Given the description of an element on the screen output the (x, y) to click on. 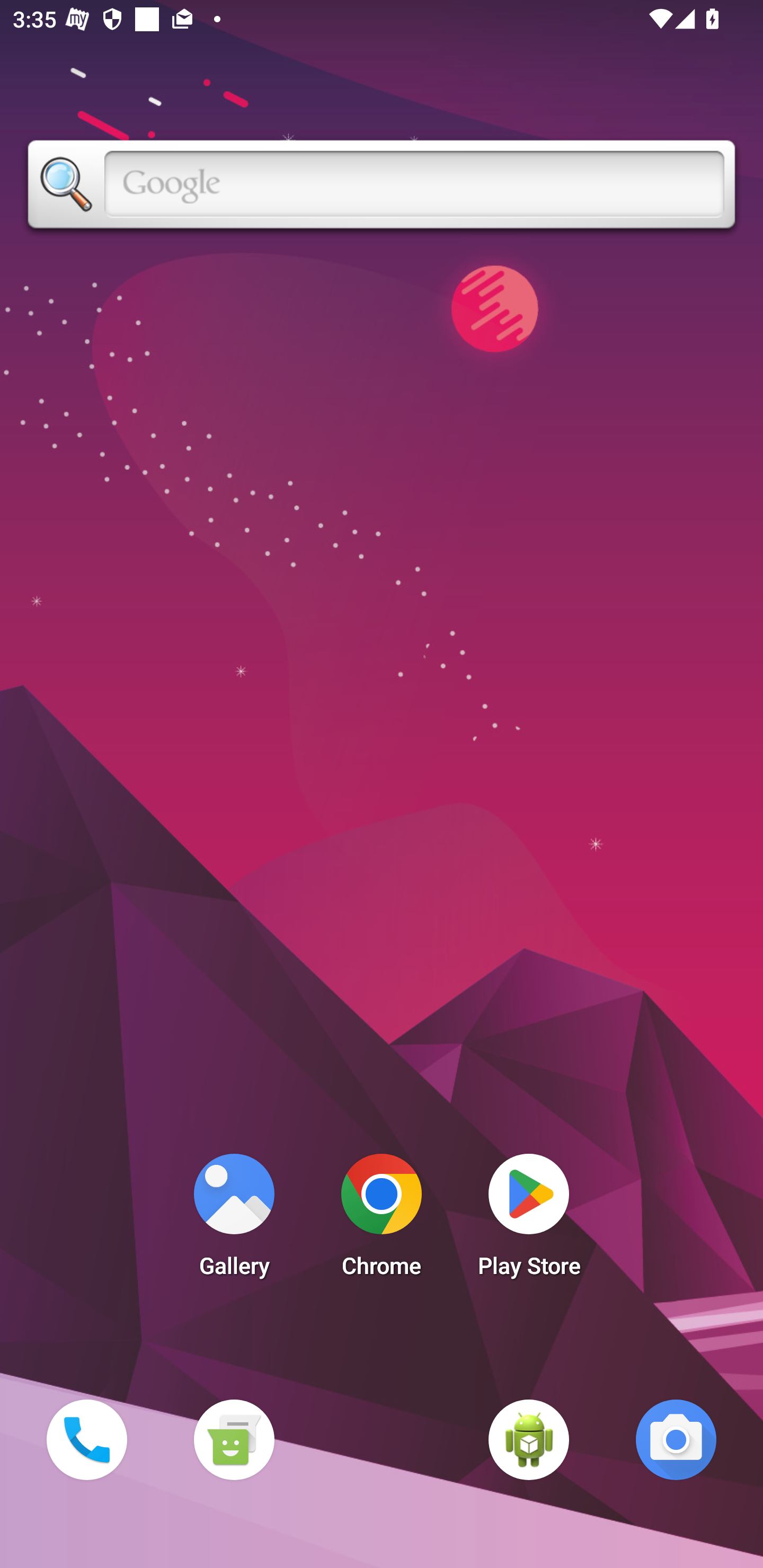
Gallery (233, 1220)
Chrome (381, 1220)
Play Store (528, 1220)
Phone (86, 1439)
Messaging (233, 1439)
WebView Browser Tester (528, 1439)
Camera (676, 1439)
